Given the description of an element on the screen output the (x, y) to click on. 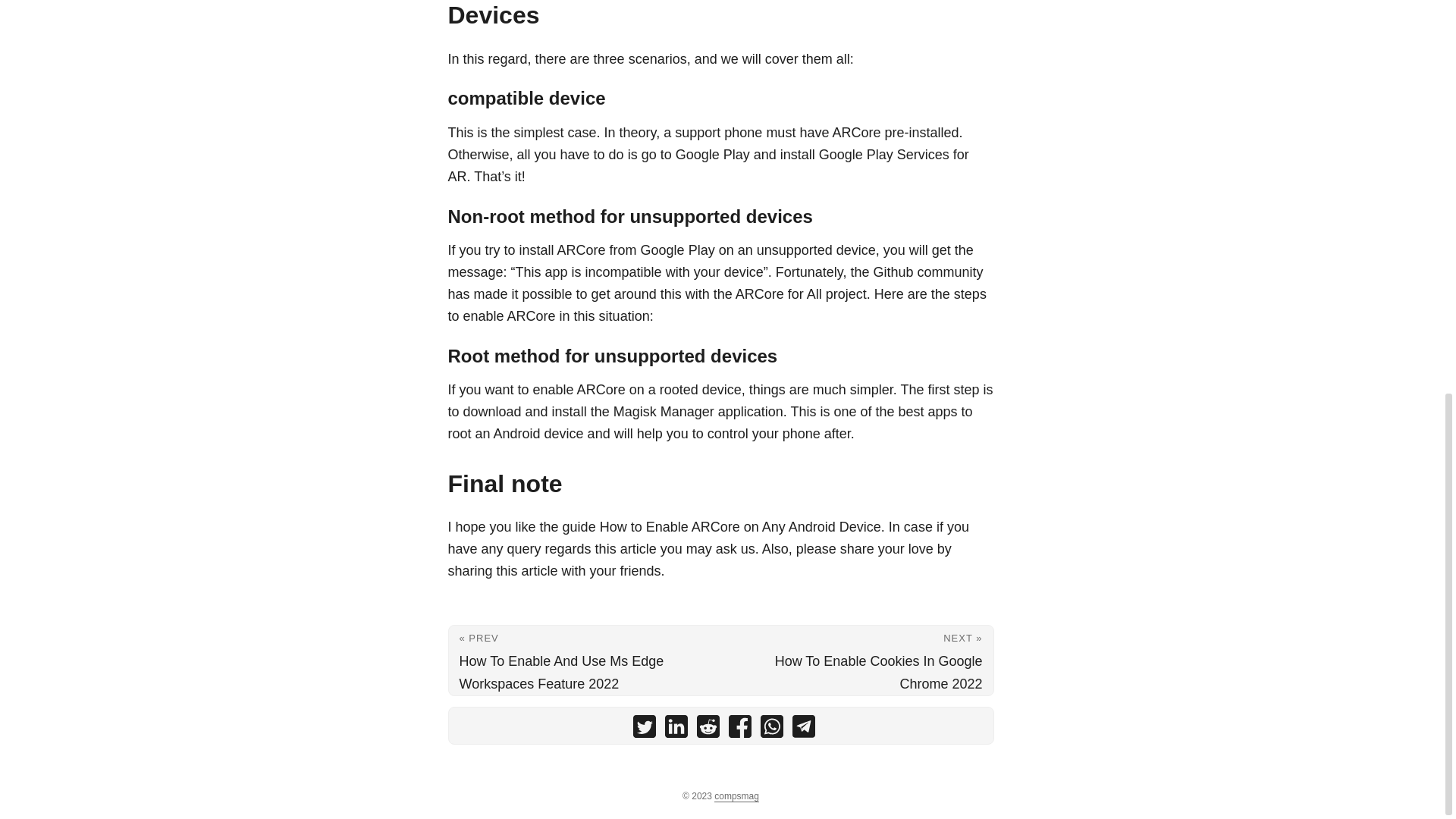
compsmag (736, 796)
